Given the description of an element on the screen output the (x, y) to click on. 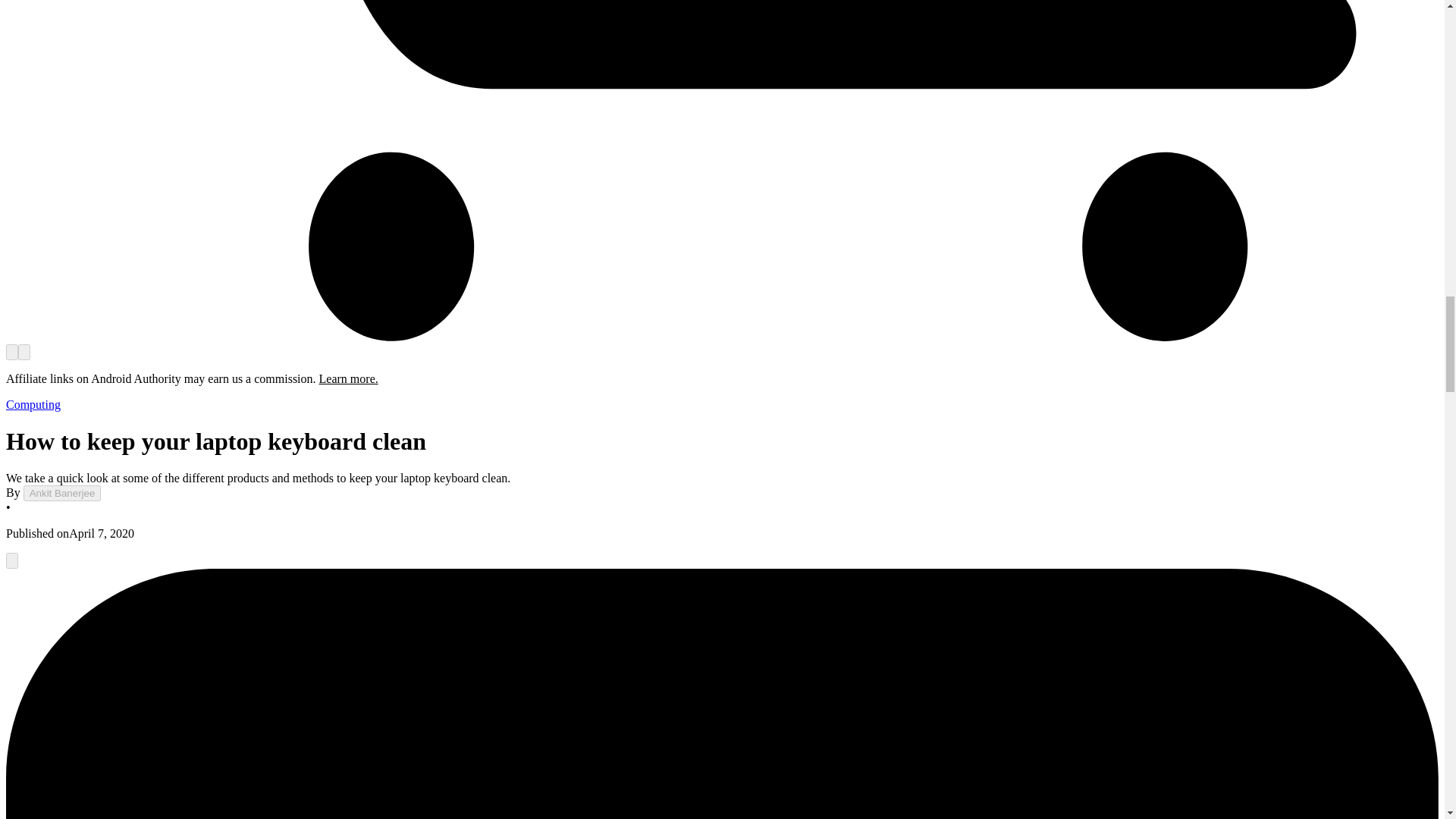
Learn more. (348, 378)
Computing (33, 404)
Ankit Banerjee (62, 493)
